Given the description of an element on the screen output the (x, y) to click on. 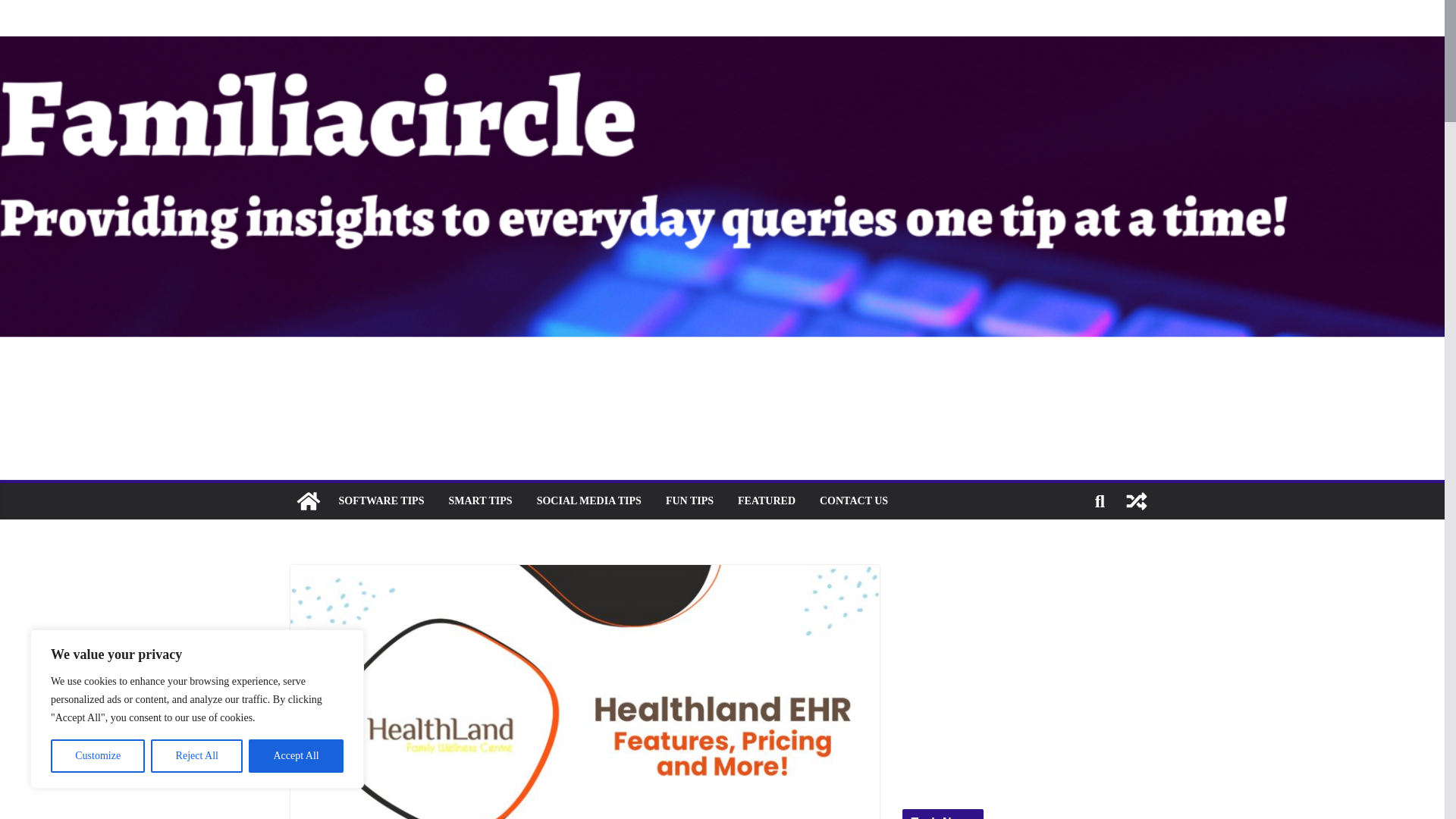
FUN TIPS (689, 500)
CONTACT US (853, 500)
Familiacircle (307, 501)
Customize (97, 756)
SMART TIPS (480, 500)
Accept All (295, 756)
FEATURED (766, 500)
SOFTWARE TIPS (380, 500)
Reject All (197, 756)
SOCIAL MEDIA TIPS (589, 500)
View a random post (1136, 501)
